Given the description of an element on the screen output the (x, y) to click on. 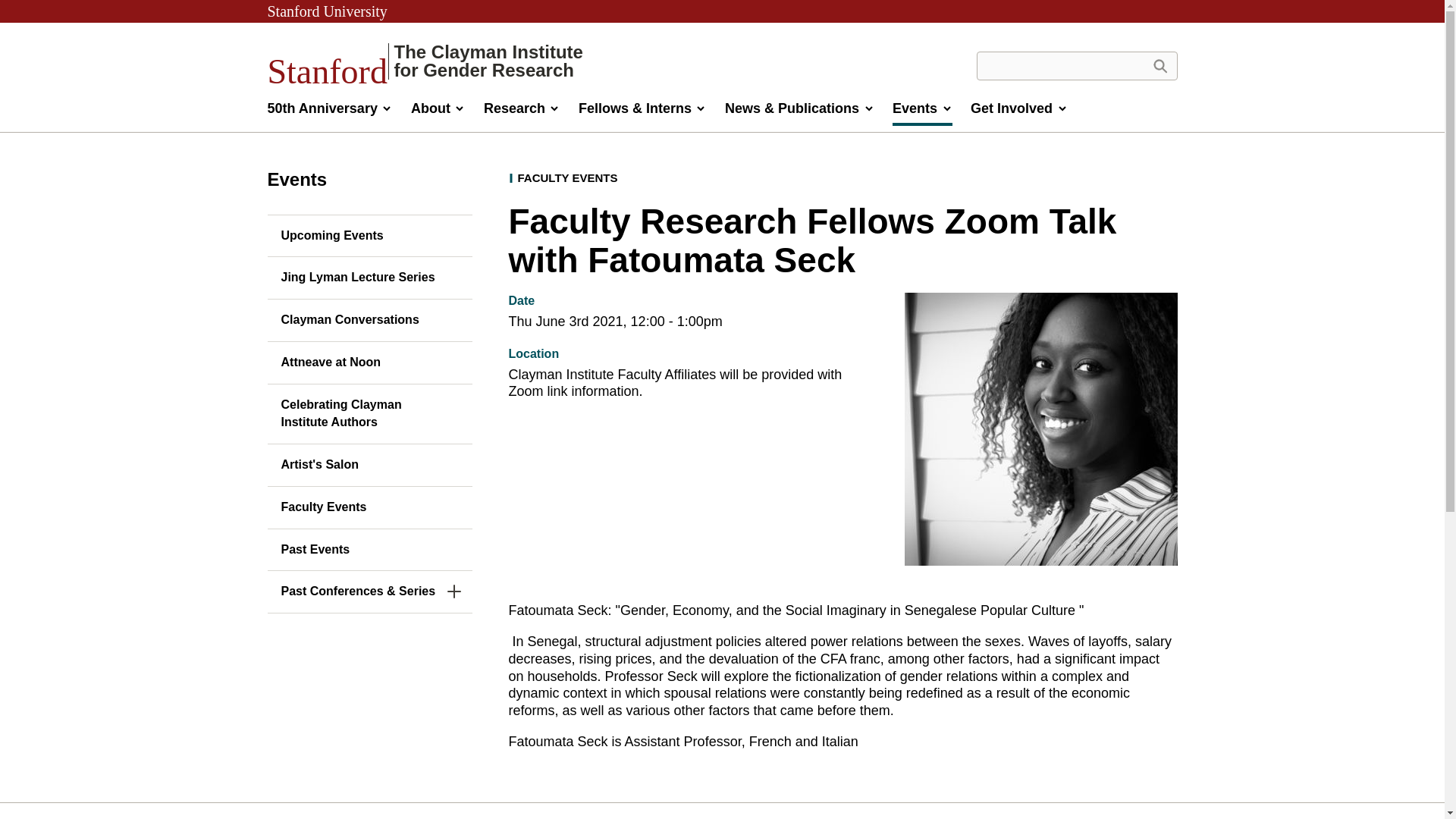
50th Anniversary (328, 112)
About (437, 112)
Stanford University (326, 11)
Research (521, 112)
